Given the description of an element on the screen output the (x, y) to click on. 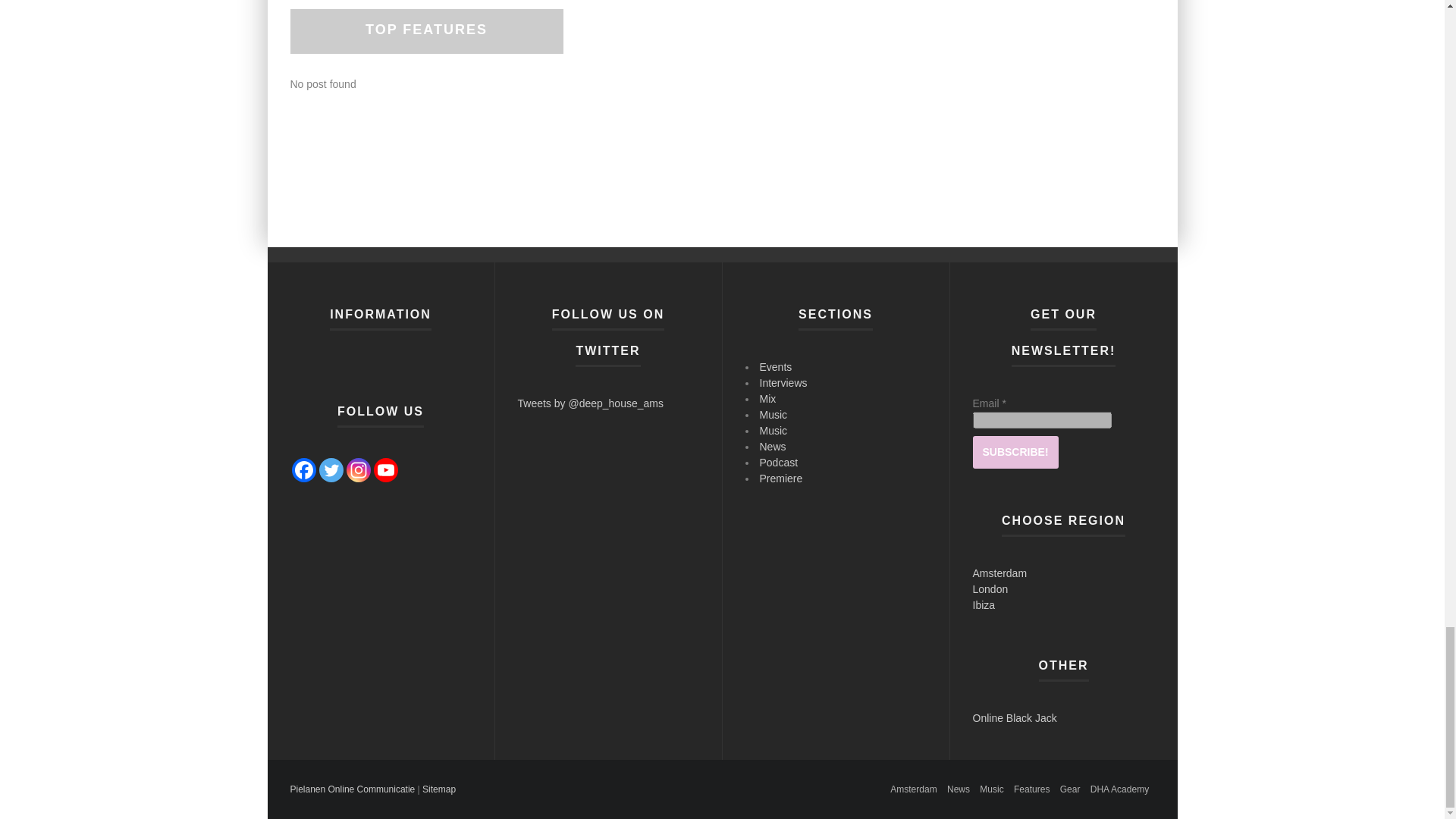
Youtube (384, 469)
Twitter (330, 469)
Instagram (357, 469)
Facebook (303, 469)
News (958, 788)
